Given the description of an element on the screen output the (x, y) to click on. 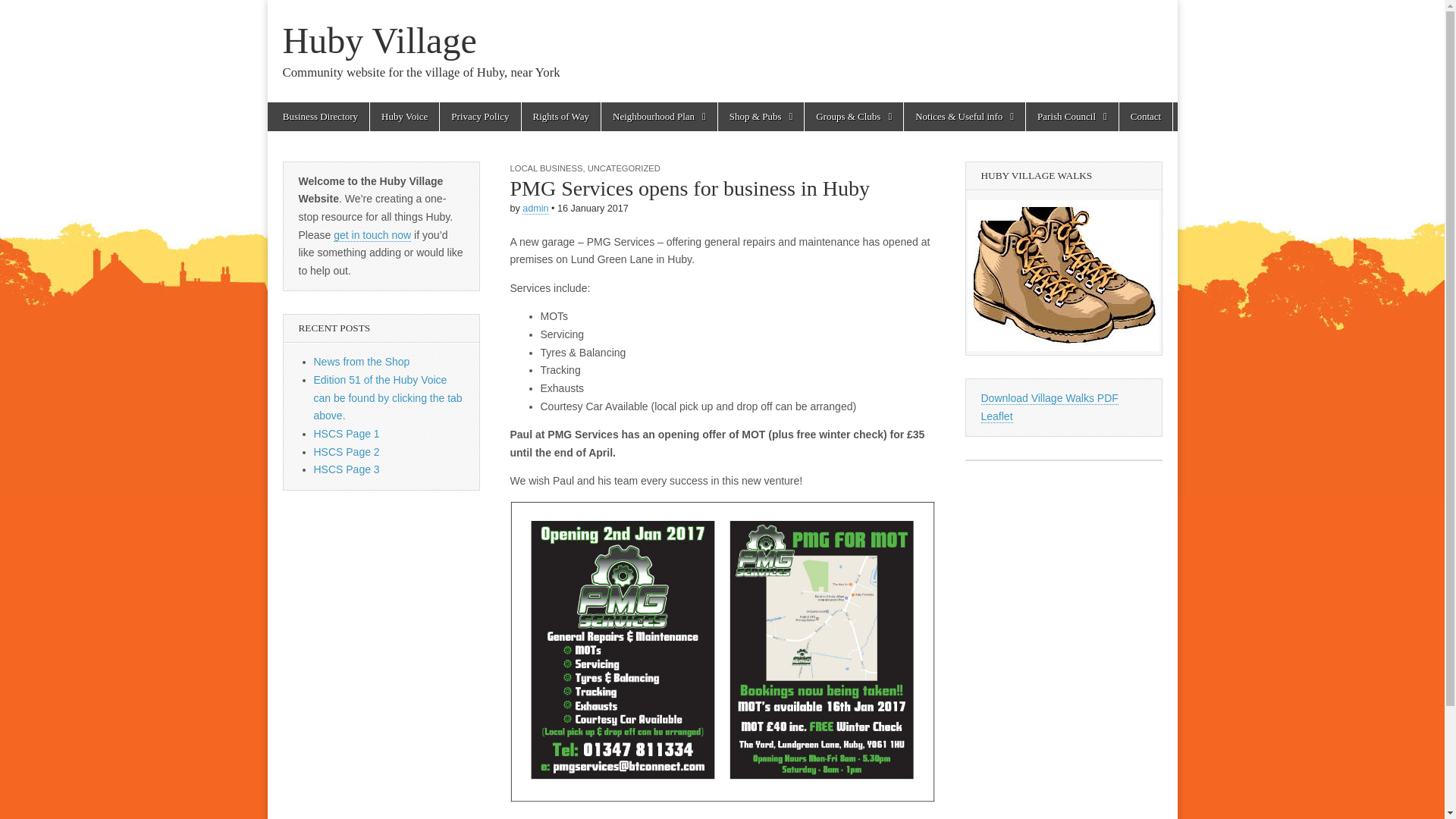
Neighbourhood Plan (659, 116)
Huby Village (379, 40)
Posts by admin (535, 208)
Business Directory (319, 116)
Huby Voice (404, 116)
Huby Village Walks (1063, 275)
Huby Village (379, 40)
Parish Council (1072, 116)
Privacy Policy (479, 116)
Rights of Way (561, 116)
